Given the description of an element on the screen output the (x, y) to click on. 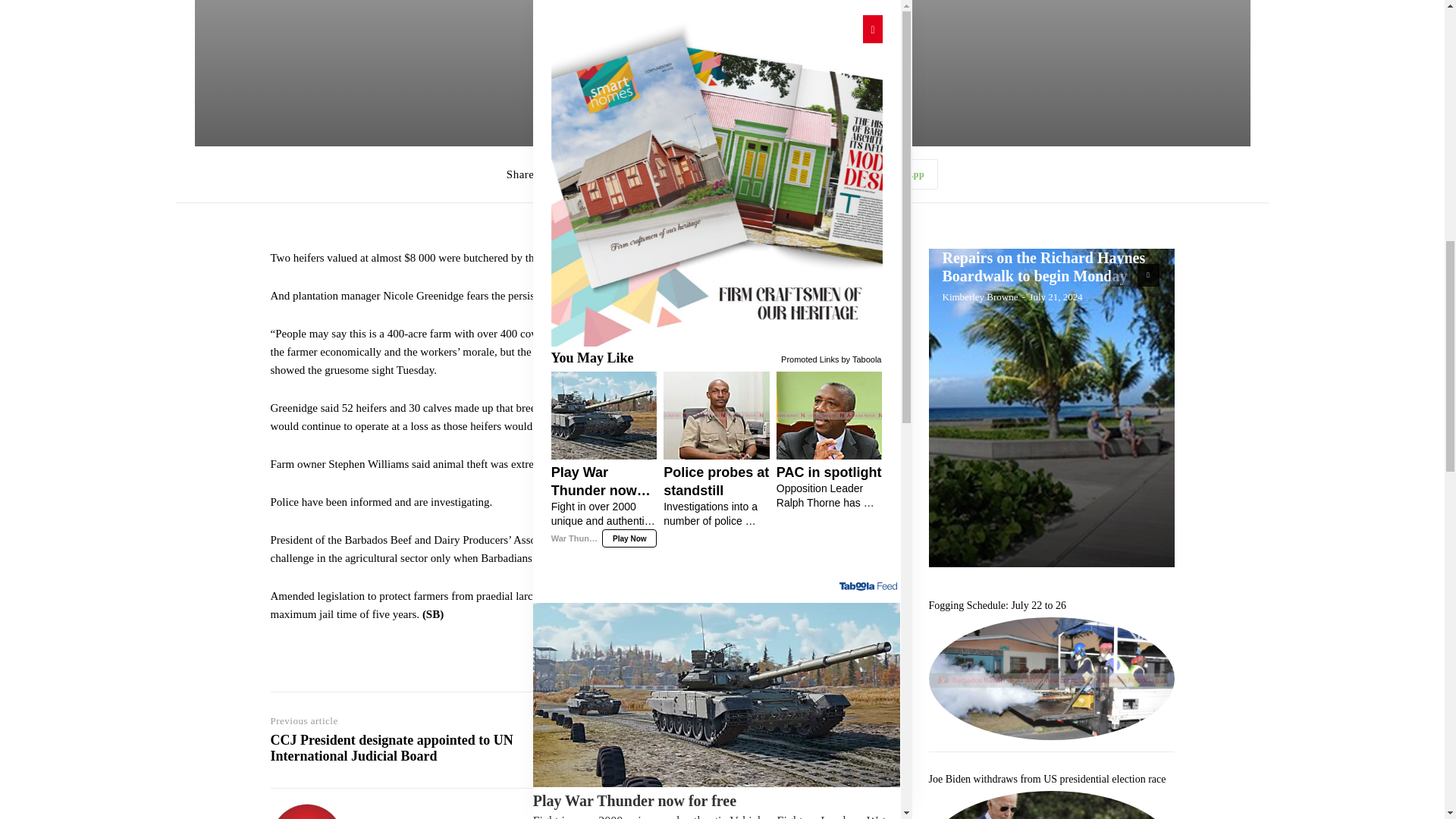
Play Now (561, 58)
Play War Thunder now for free (716, 30)
PAC in spotlight (622, 696)
Sponsored (879, 56)
Sponsored (879, 542)
Police probes at standstill (809, 209)
